Given the description of an element on the screen output the (x, y) to click on. 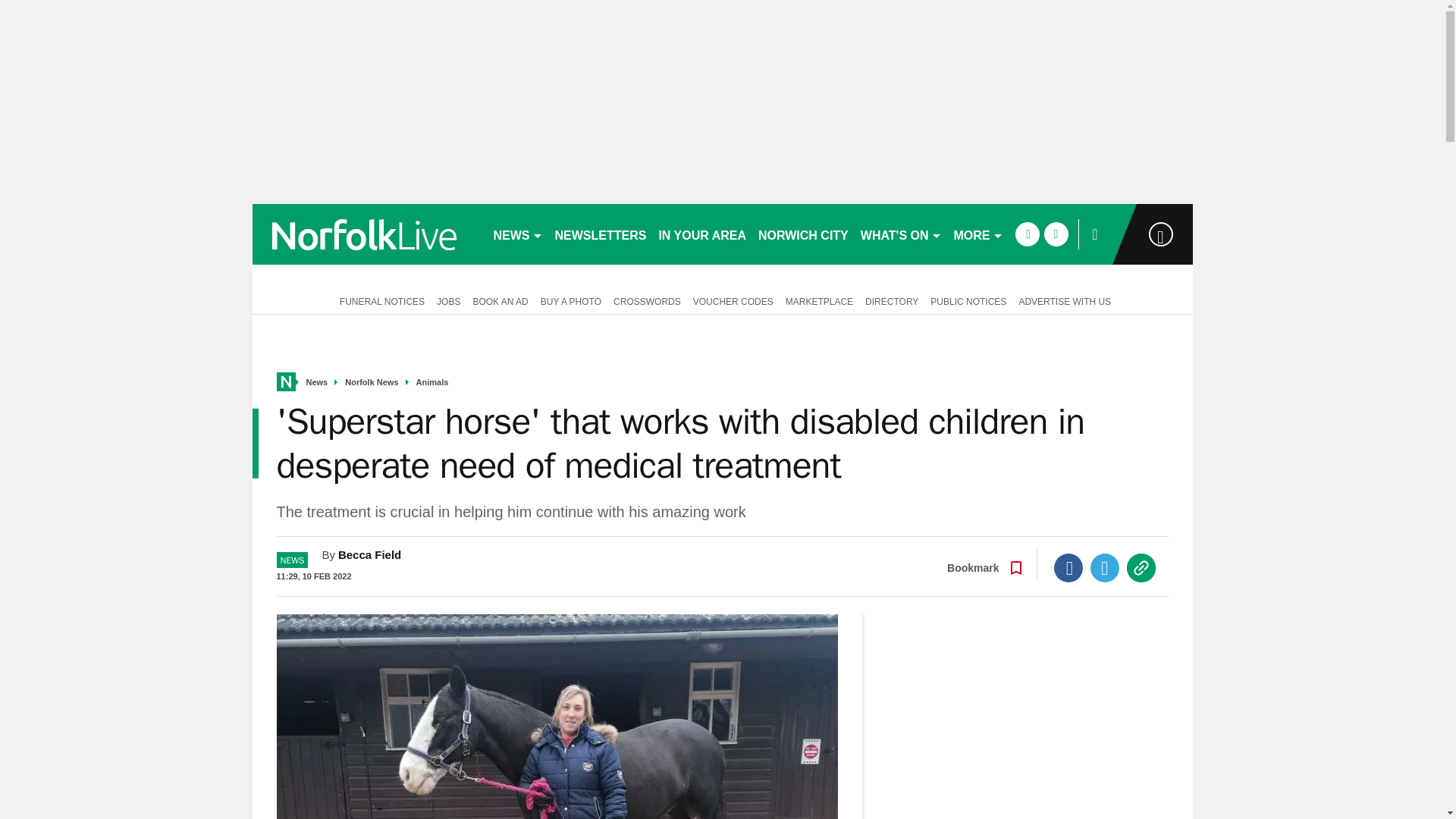
NEWS (517, 233)
FUNERAL NOTICES (378, 300)
Home (285, 381)
Norfolk News (371, 382)
PUBLIC NOTICES (967, 300)
Twitter (1104, 567)
DIRECTORY (891, 300)
Facebook (1068, 567)
NEWSLETTERS (600, 233)
IN YOUR AREA (702, 233)
